Given the description of an element on the screen output the (x, y) to click on. 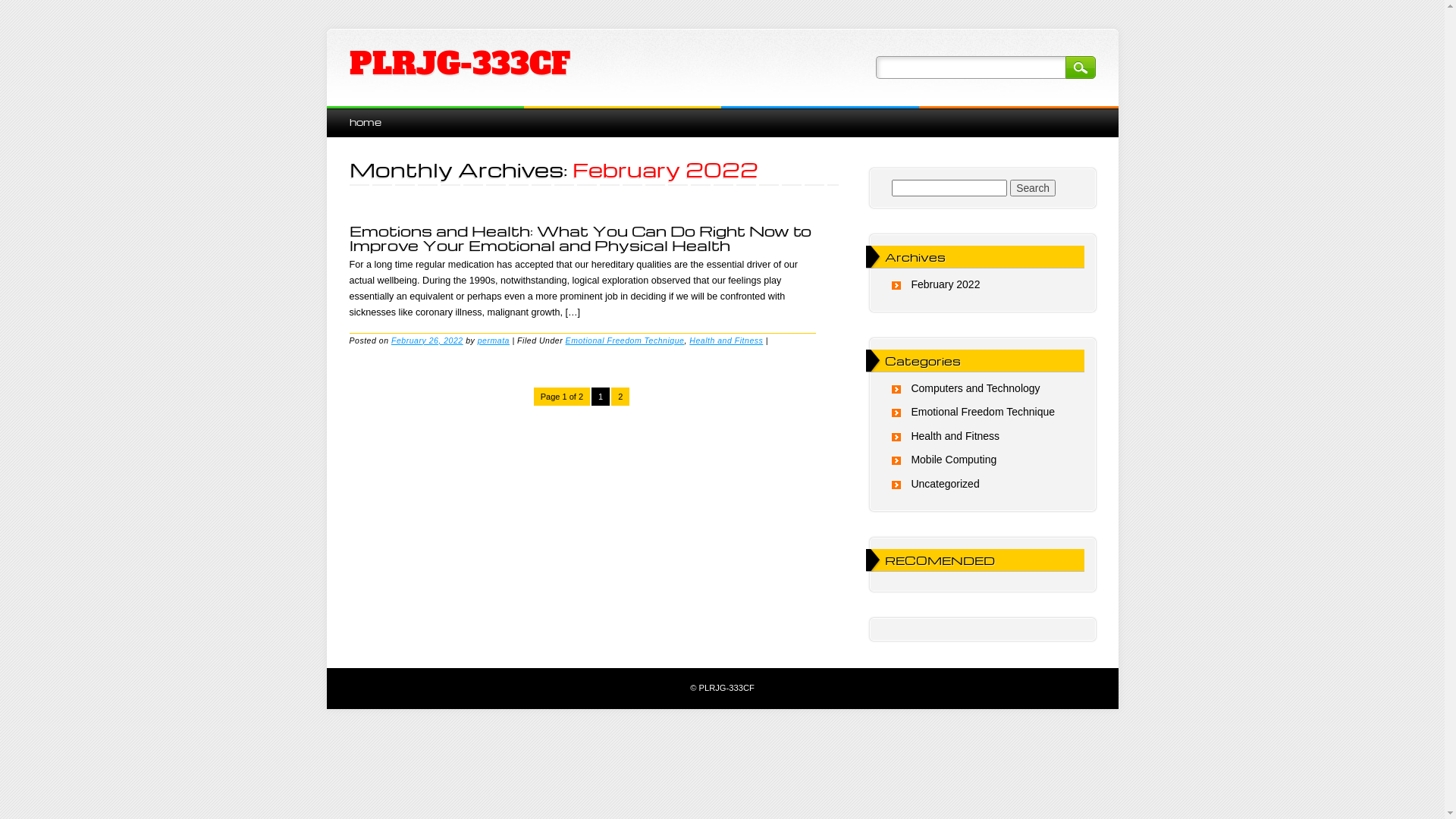
PLRJG-333CF Element type: text (458, 63)
February 26, 2022 Element type: text (427, 339)
Search Element type: text (1079, 67)
Emotional Freedom Technique Element type: text (982, 411)
Skip to content Element type: text (361, 113)
home Element type: text (364, 121)
Mobile Computing Element type: text (953, 459)
Computers and Technology Element type: text (974, 388)
2 Element type: text (620, 396)
Search Element type: text (1032, 187)
February 2022 Element type: text (944, 284)
Emotional Freedom Technique Element type: text (624, 339)
permata Element type: text (493, 339)
Uncategorized Element type: text (944, 483)
Health and Fitness Element type: text (725, 339)
Health and Fitness Element type: text (954, 435)
